Given the description of an element on the screen output the (x, y) to click on. 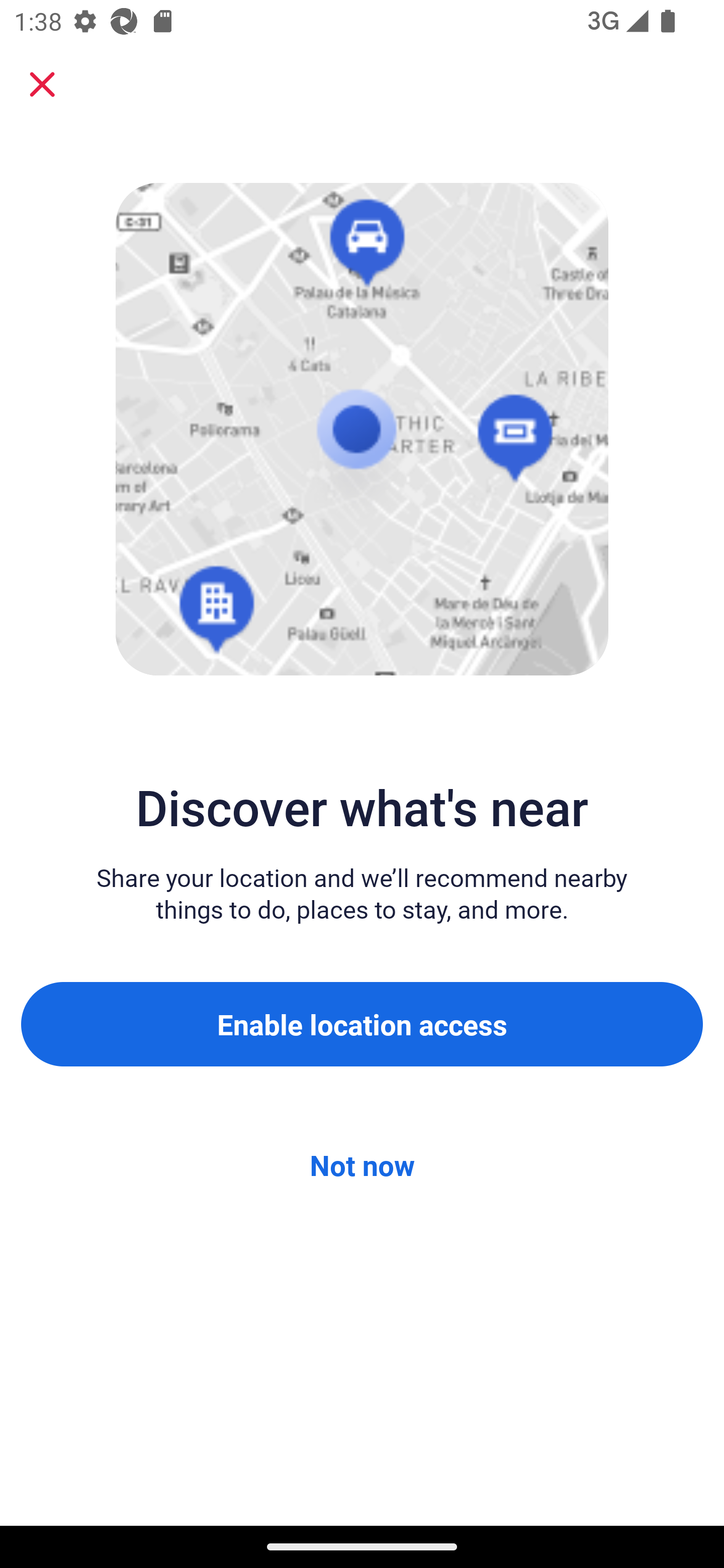
Close sheet (42, 84)
Enable location access (361, 1023)
Not now (362, 1164)
